Given the description of an element on the screen output the (x, y) to click on. 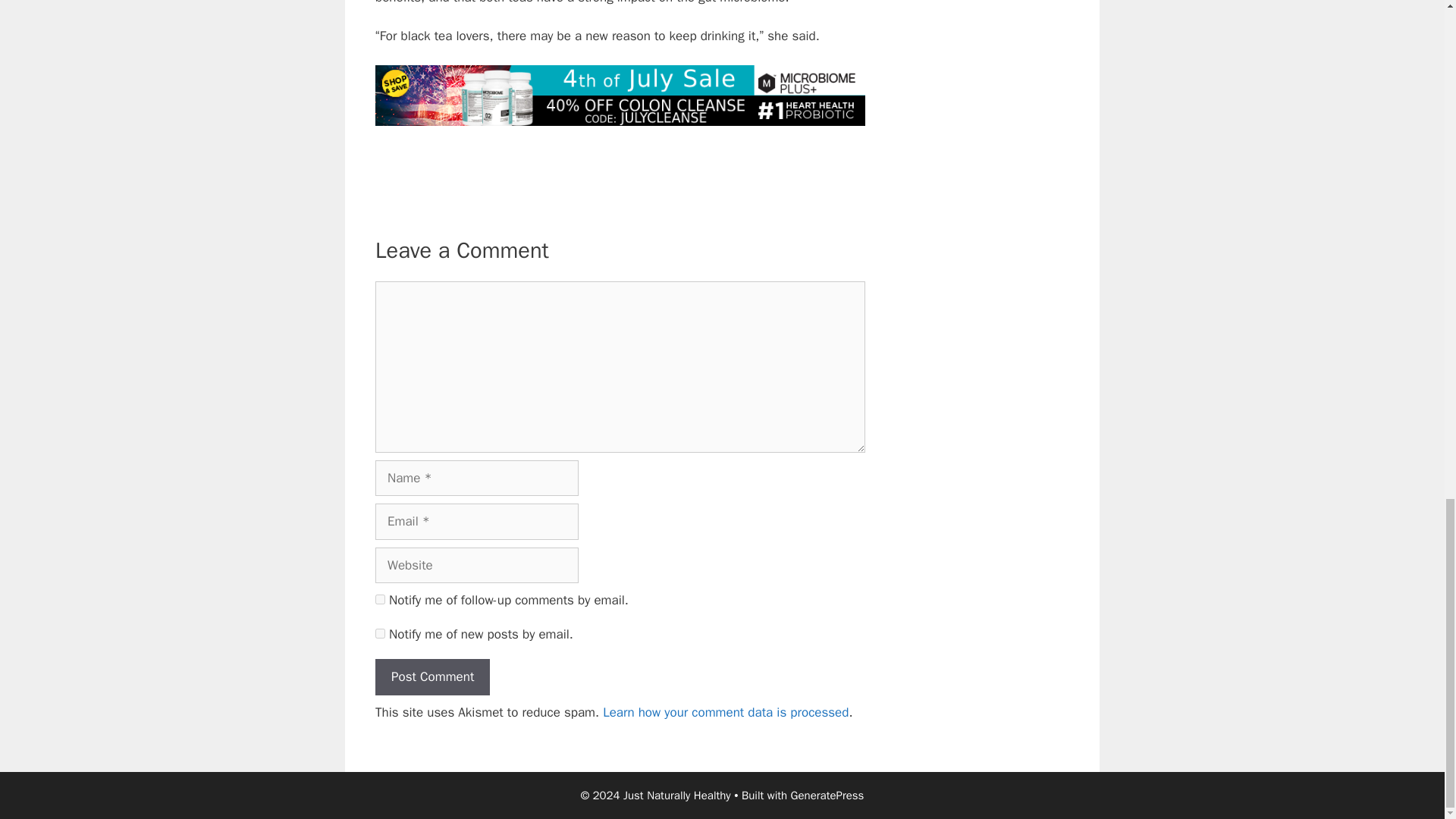
Learn how your comment data is processed (725, 712)
GeneratePress (827, 795)
Post Comment (432, 677)
subscribe (380, 633)
Post Comment (432, 677)
subscribe (380, 599)
